Given the description of an element on the screen output the (x, y) to click on. 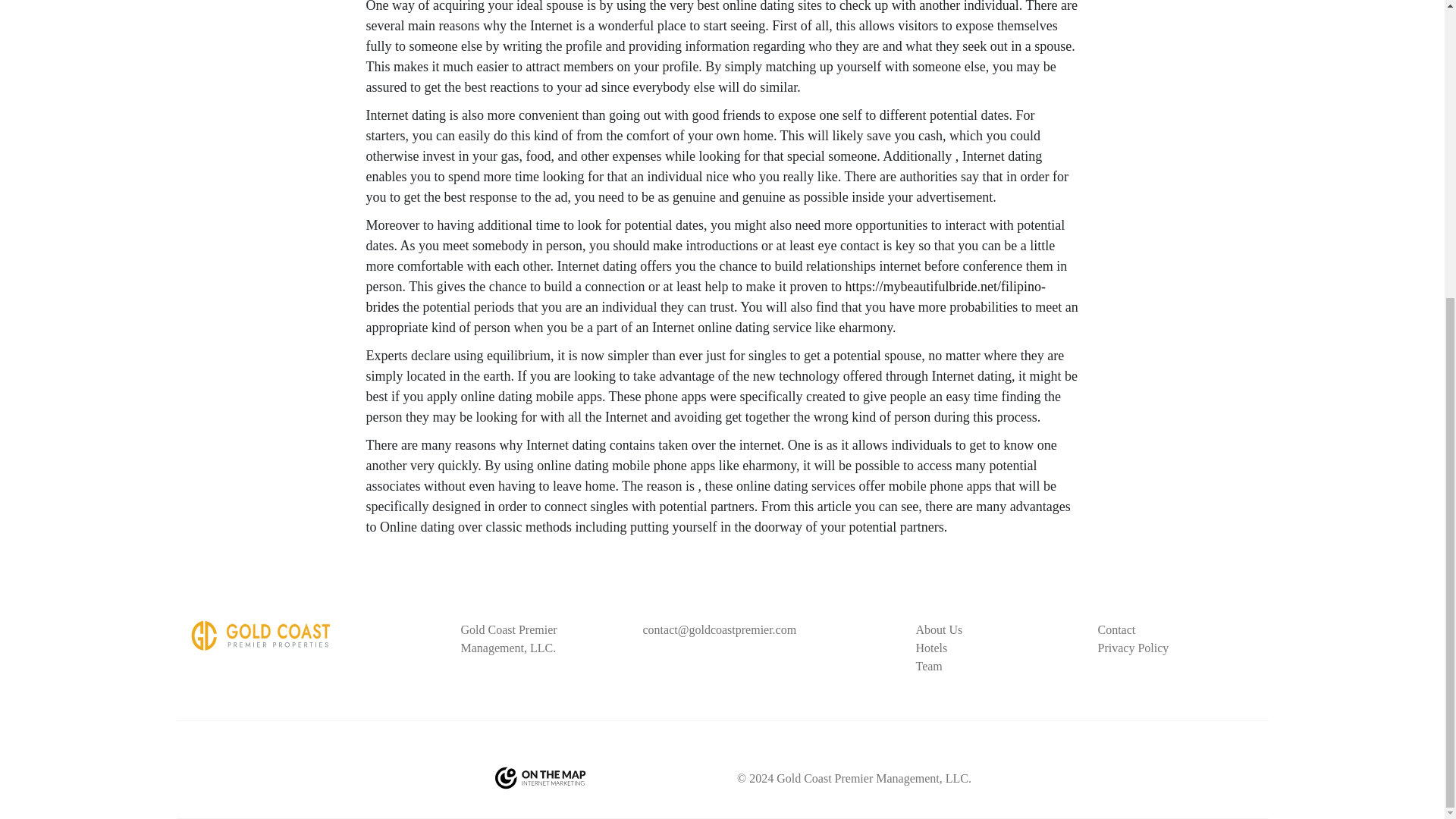
Hotels (931, 647)
Gold Coast Premier Management, LLC. (260, 635)
Privacy Policy (1133, 647)
Team (928, 666)
Contact (1116, 629)
Interior Design Marketing Agency (540, 777)
About Us (938, 629)
Interior Design SEO (540, 780)
